Given the description of an element on the screen output the (x, y) to click on. 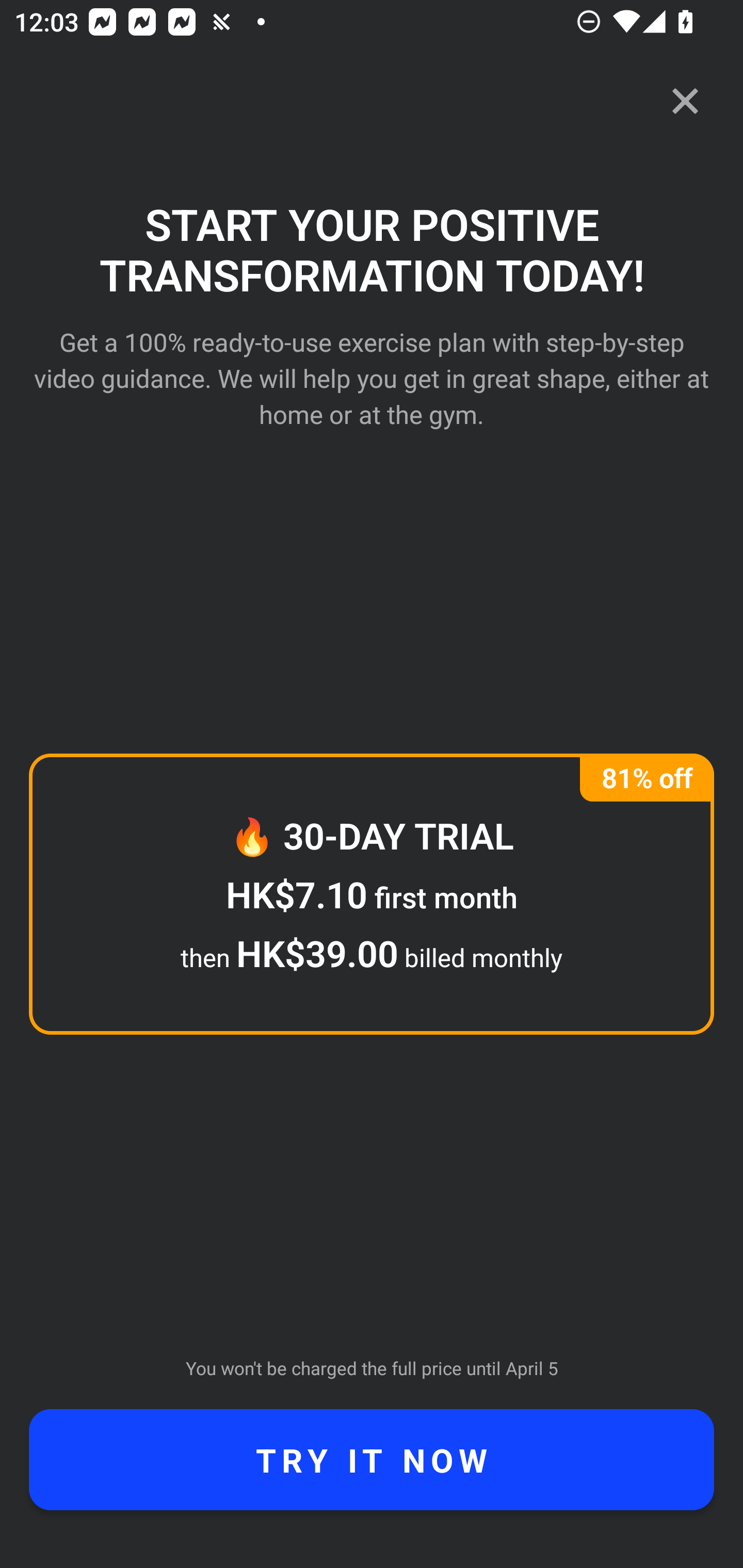
Close (684, 101)
TRY IT NOW (371, 1459)
